Given the description of an element on the screen output the (x, y) to click on. 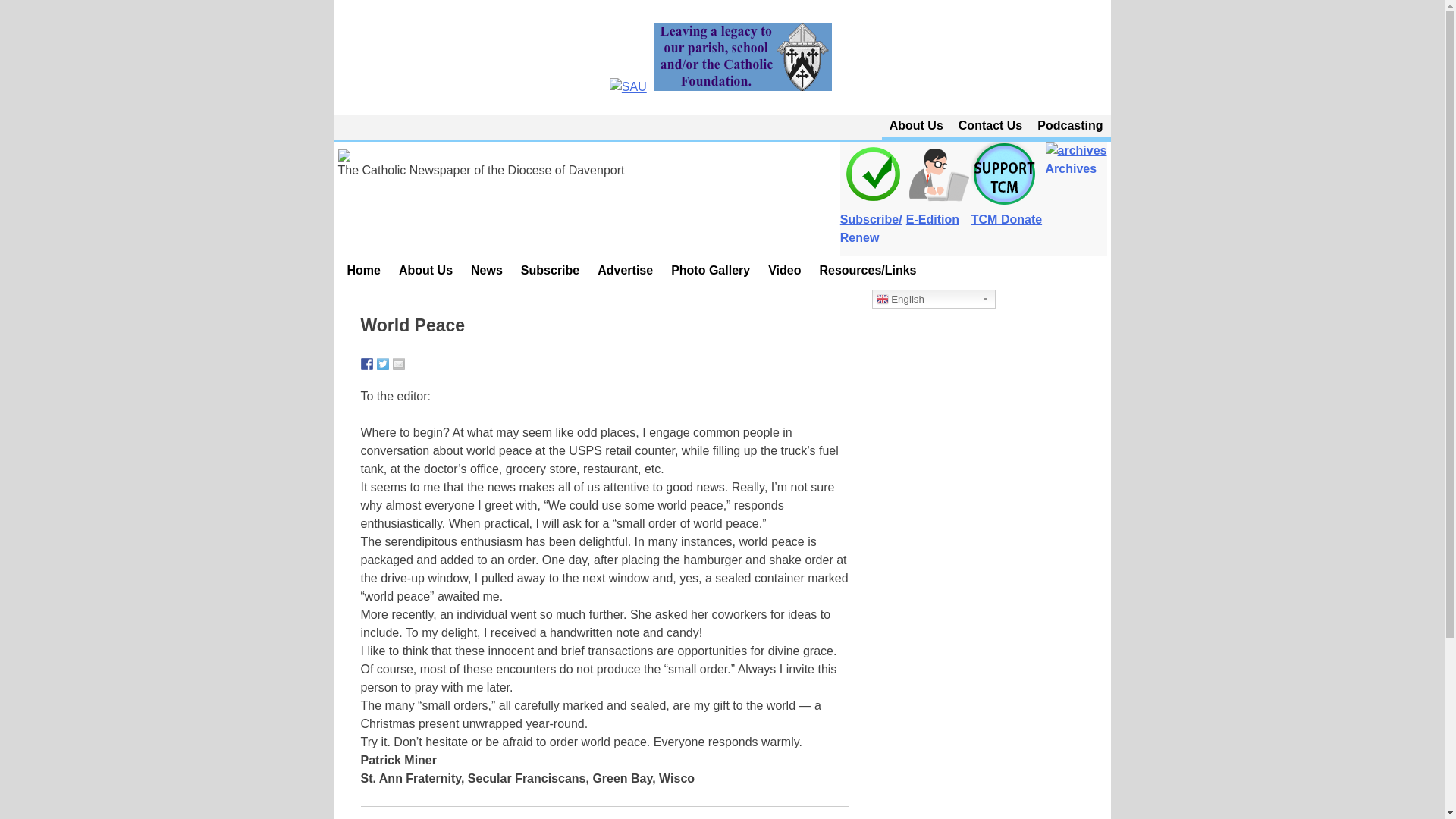
Advertise (625, 270)
E-Edition (933, 210)
About Us (916, 125)
Share on Twitter (381, 363)
About Us (425, 270)
Podcasting (1069, 125)
Archives (1073, 210)
Subscribe (549, 270)
Contact Us (989, 125)
Home (363, 270)
Share by email (398, 363)
TCM Donate (1001, 159)
News (487, 270)
Share on Facebook (366, 363)
